Given the description of an element on the screen output the (x, y) to click on. 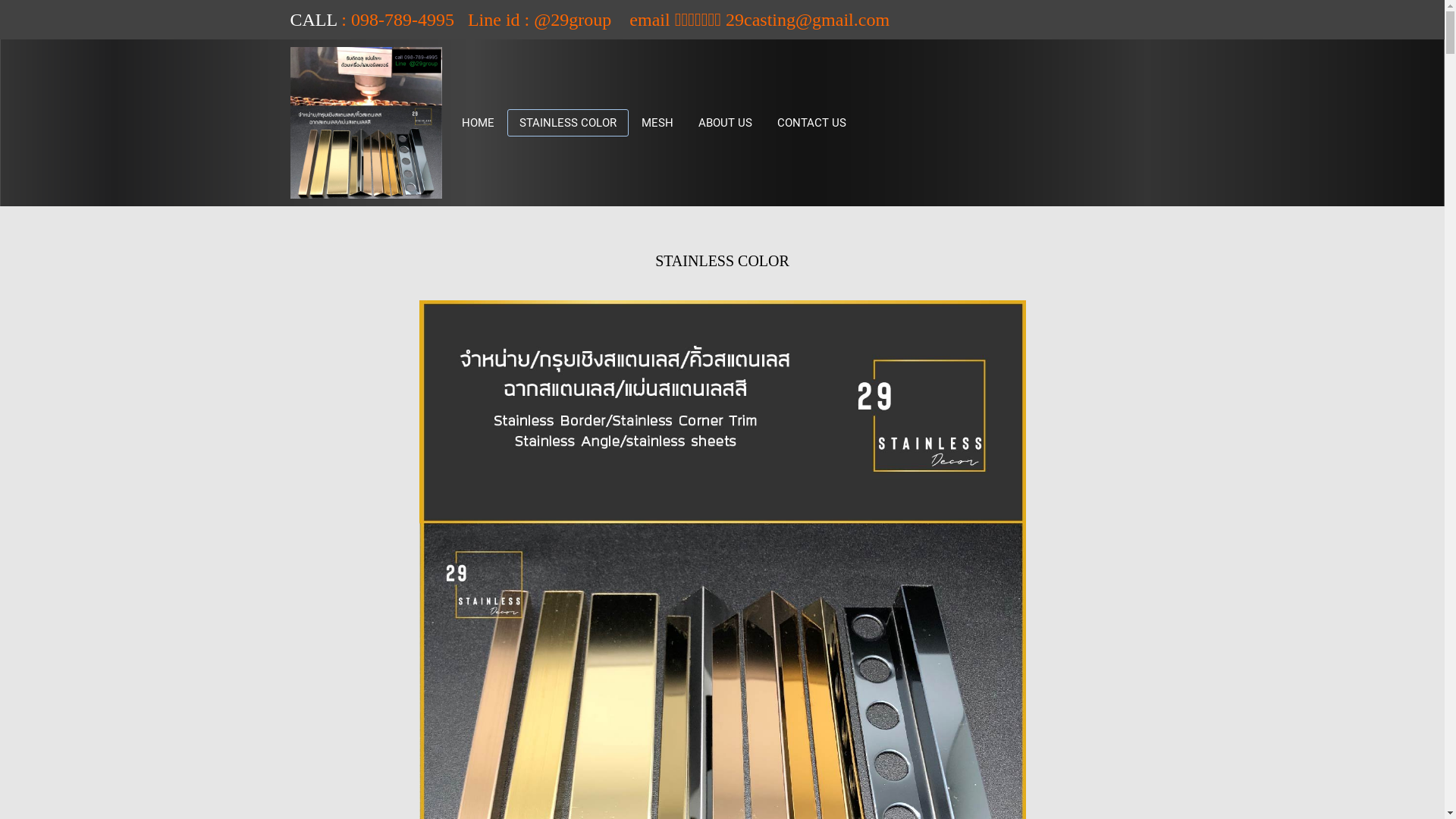
STAINLESS COLOR Element type: text (566, 122)
CONTACT US Element type: text (810, 122)
HOME Element type: text (476, 122)
logo Element type: hover (365, 122)
MESH Element type: text (657, 122)
ABOUT US Element type: text (724, 122)
